Given the description of an element on the screen output the (x, y) to click on. 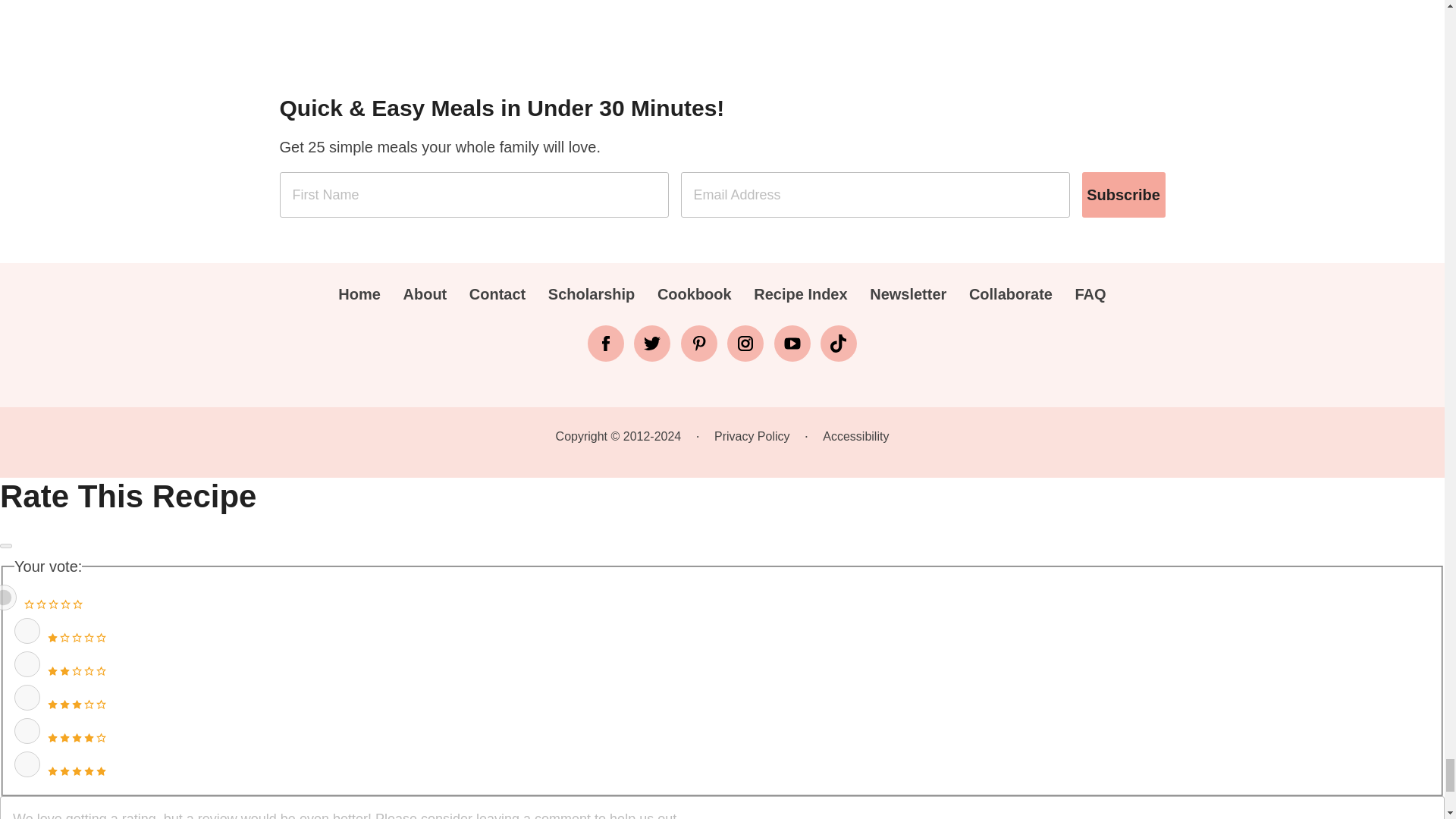
1 (27, 630)
3 (27, 697)
2 (27, 664)
5 (27, 764)
4 (27, 730)
